Given the description of an element on the screen output the (x, y) to click on. 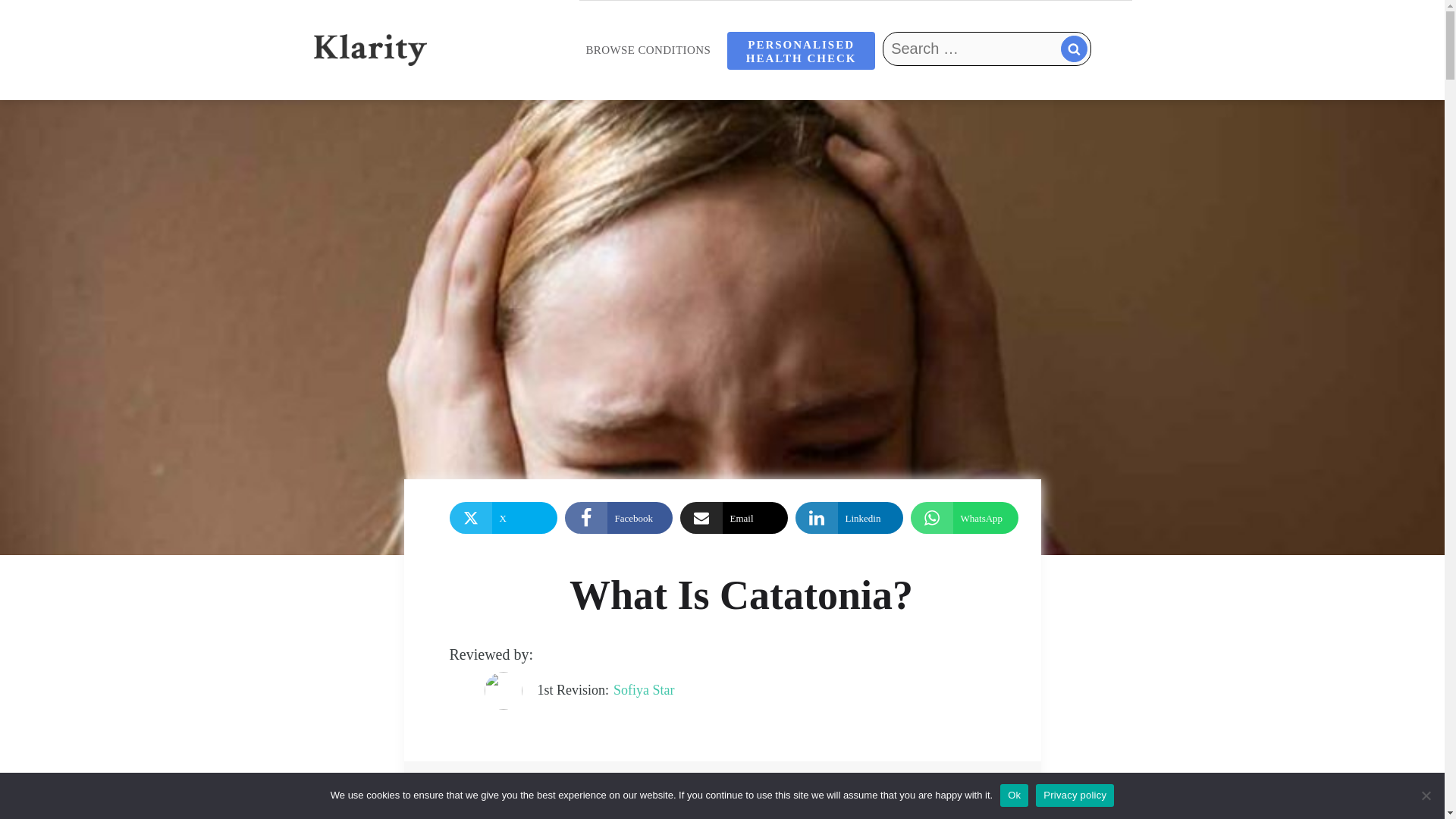
WhatsApp (963, 517)
Linkedin (848, 517)
PERSONALISED HEALTH CHECK (800, 50)
No (1425, 795)
Facebook (617, 517)
Search (921, 82)
Email (733, 517)
X (502, 517)
Search (921, 82)
Sofiya Star (643, 690)
Search (921, 82)
BROWSE CONDITIONS (647, 49)
